Given the description of an element on the screen output the (x, y) to click on. 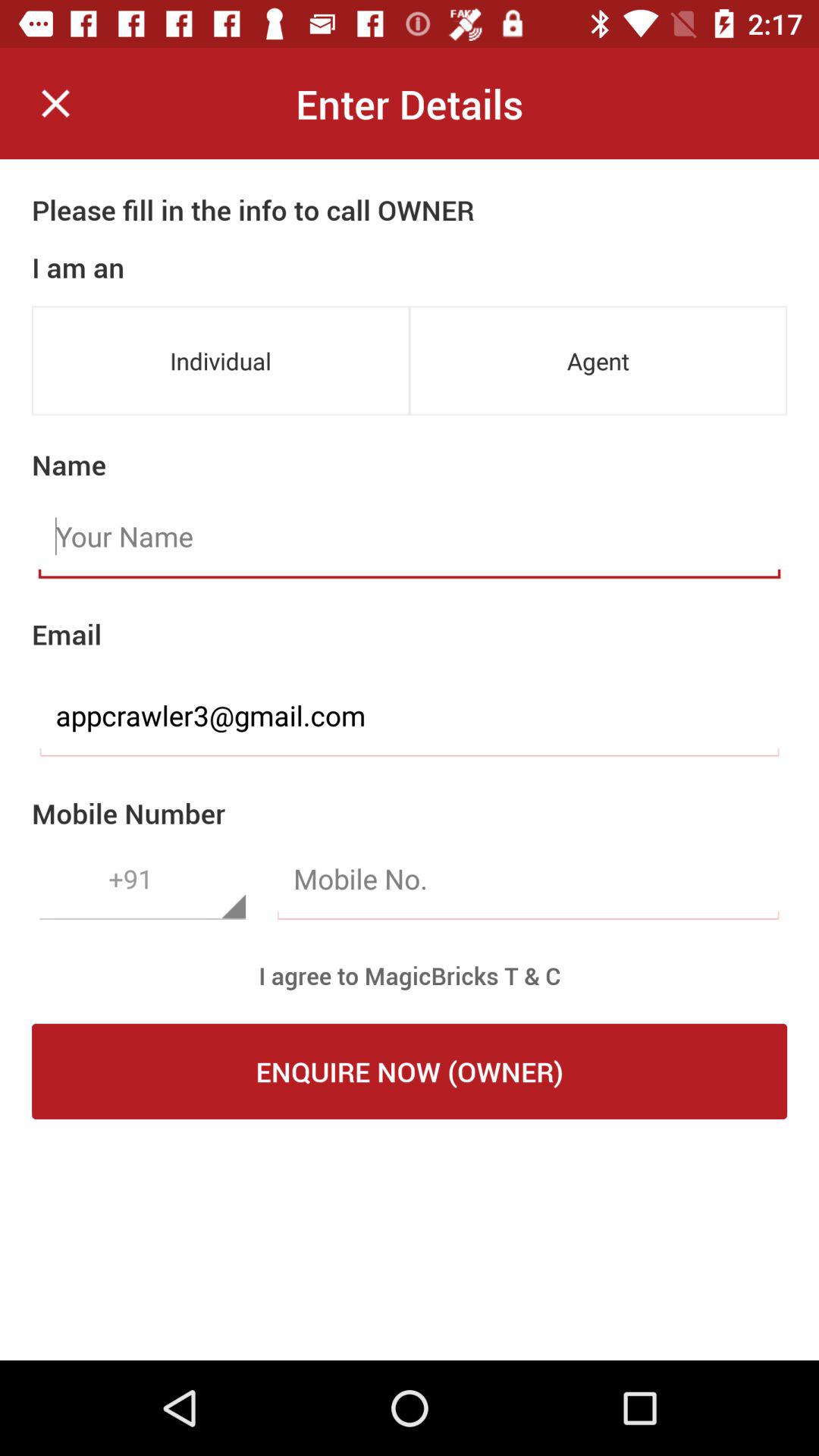
close form (55, 103)
